Given the description of an element on the screen output the (x, y) to click on. 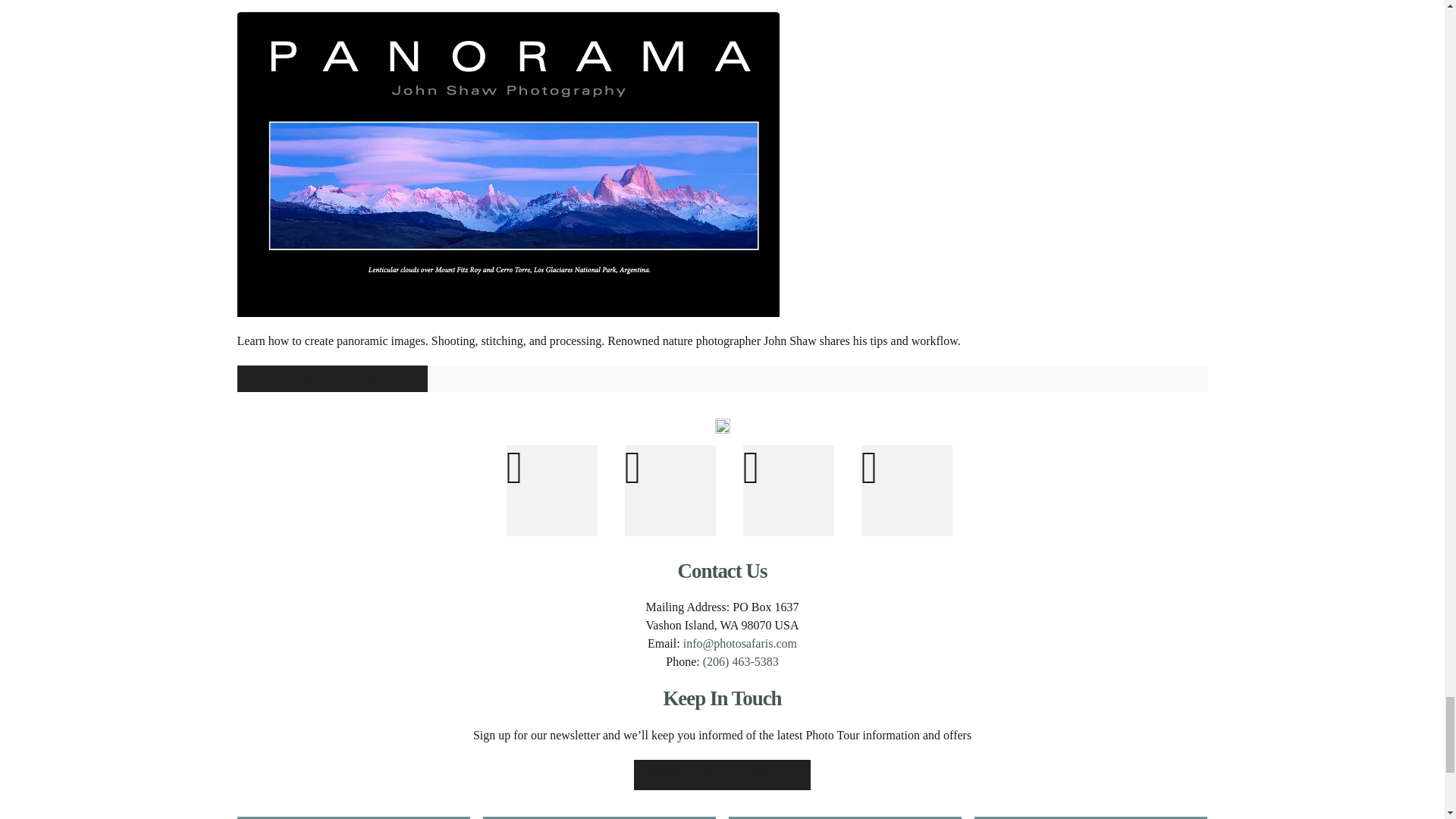
YouTube (788, 490)
Facebook (551, 490)
LinkedIn (906, 490)
Instagram (670, 490)
